Given the description of an element on the screen output the (x, y) to click on. 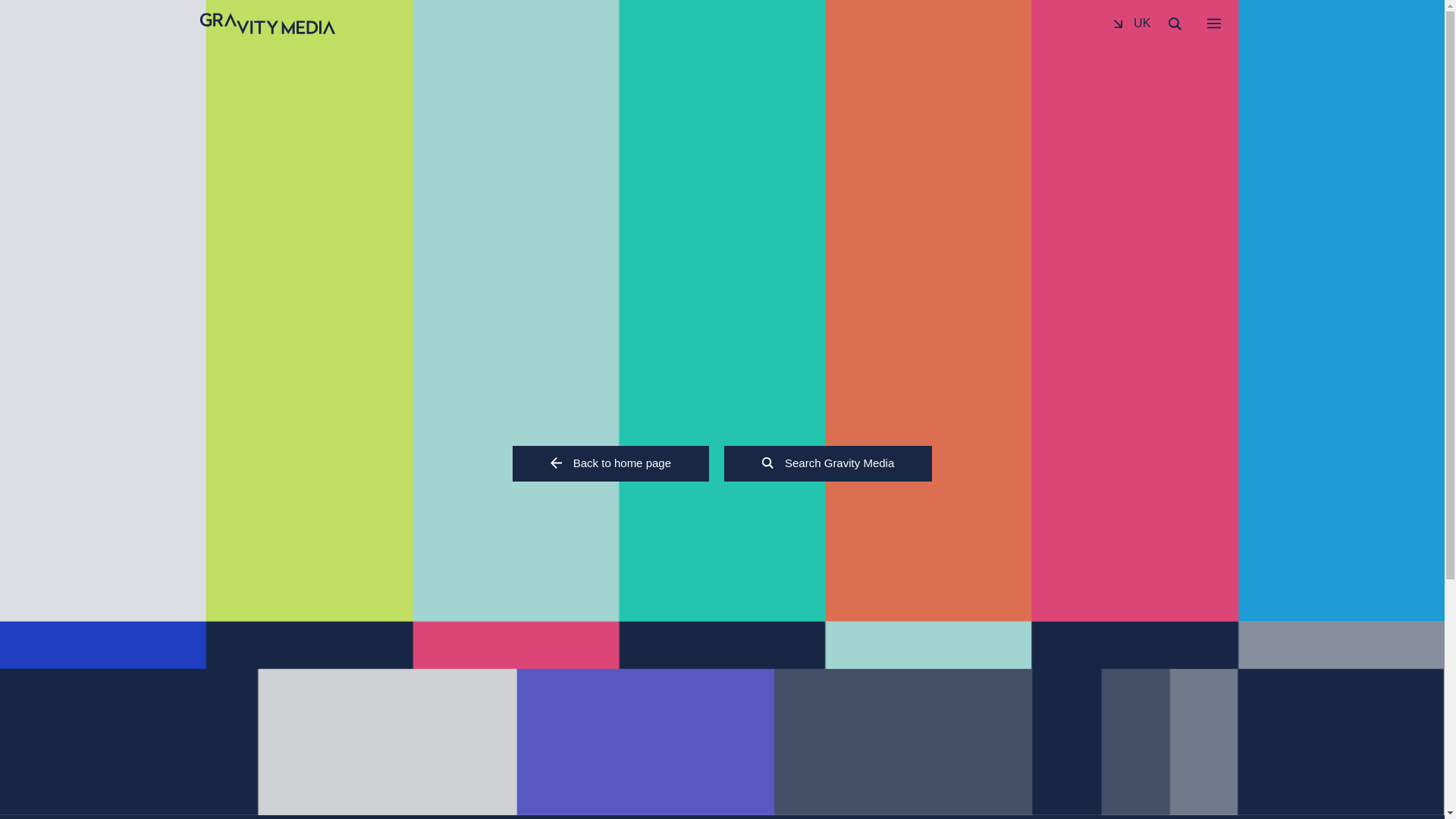
Back to home page (610, 463)
Search Gravity Media (827, 463)
